Given the description of an element on the screen output the (x, y) to click on. 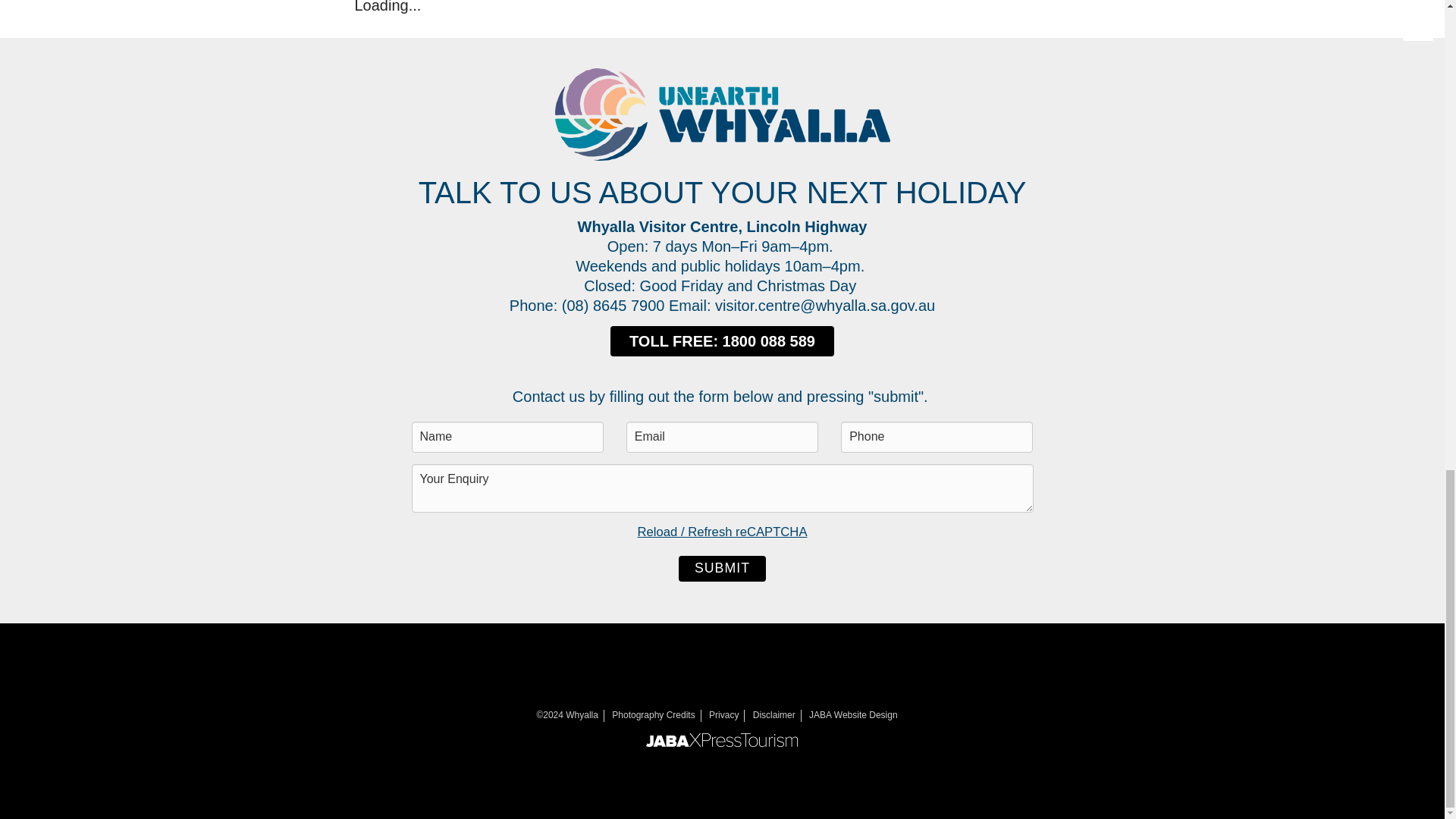
Privacy (723, 715)
TOLL FREE: 1800 088 589 (722, 340)
Disclaimer (773, 715)
SUBMIT (721, 568)
SUBMIT (721, 568)
Photography Credits (652, 715)
